Given the description of an element on the screen output the (x, y) to click on. 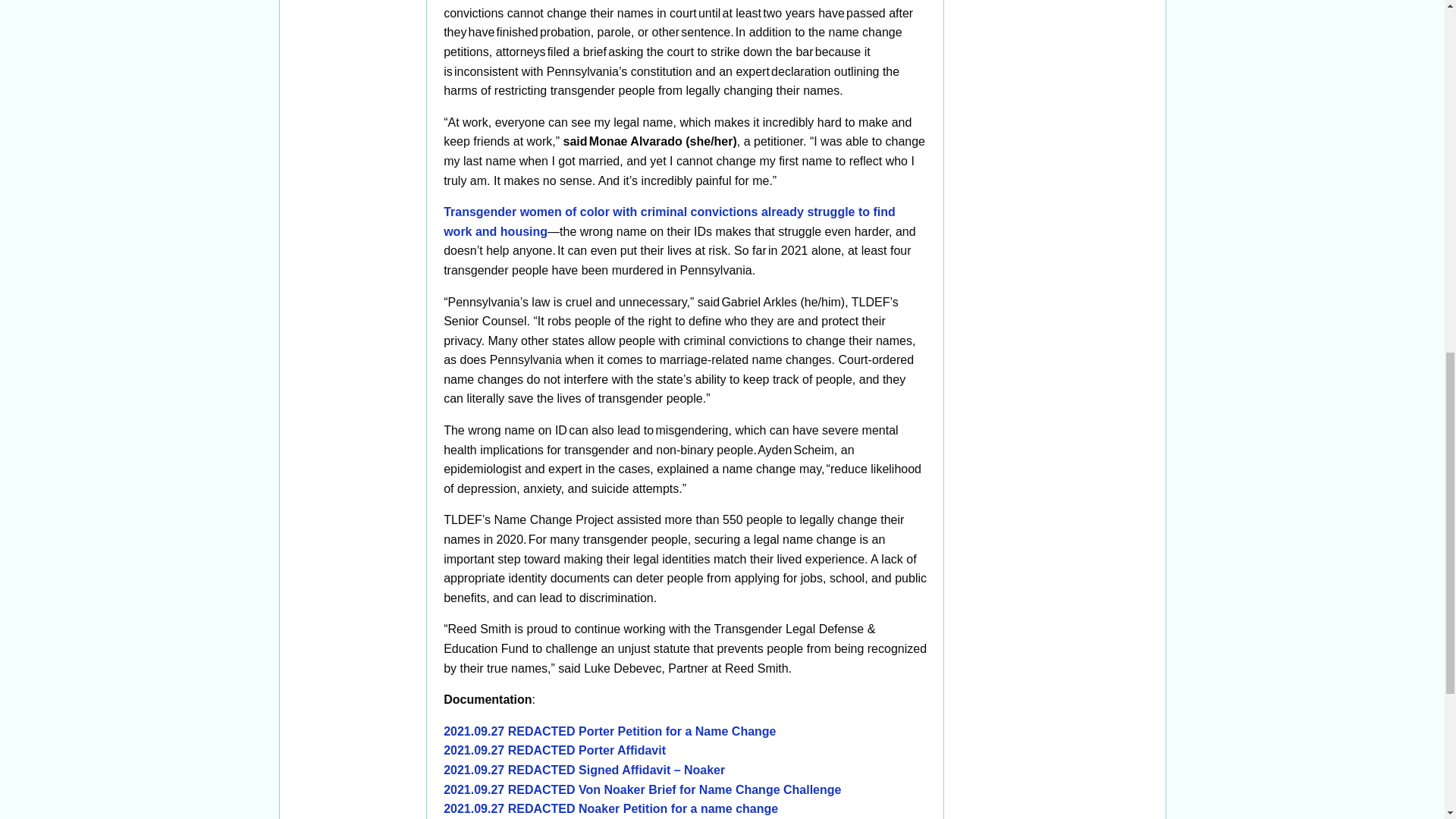
2021.09.27 REDACTED Noaker Petition for a name change (610, 808)
2021.09.27 REDACTED Porter Petition for a Name Change (610, 730)
2021.09.27 REDACTED Porter Affidavit (554, 749)
